Given the description of an element on the screen output the (x, y) to click on. 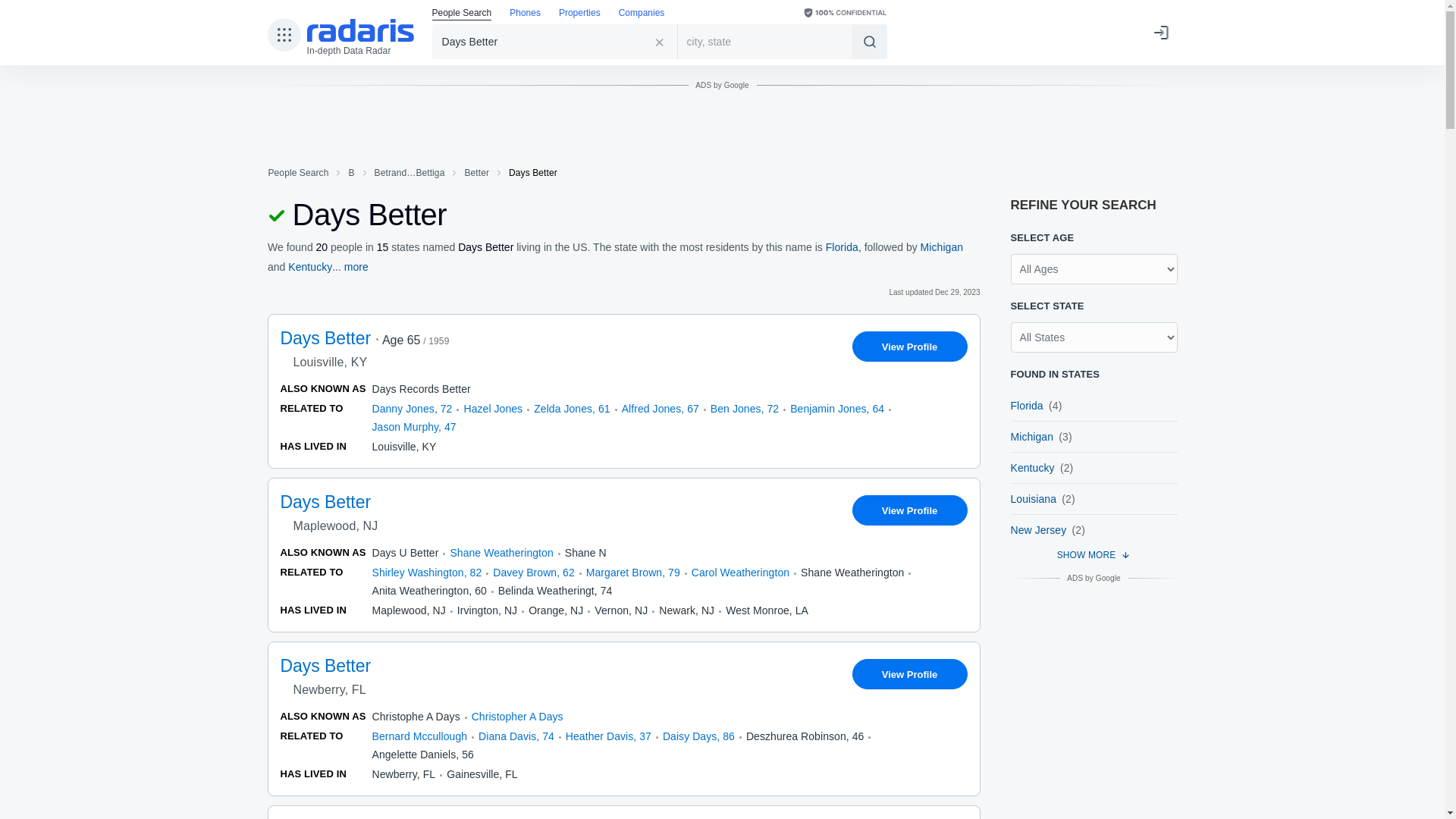
Properties (579, 13)
Bernard Mccullough (419, 736)
Christopher A Days (517, 716)
Hazel Jones (492, 408)
Advertisement (721, 133)
People Search (297, 172)
B (350, 172)
Phones (524, 13)
Danny Jones, 72 (411, 408)
Days Better (555, 41)
Diana Davis, 74 (516, 736)
Jason Murphy, 47 (413, 426)
Ben Jones, 72 (744, 408)
People Search (462, 13)
Shirley Washington, 82 (426, 572)
